Given the description of an element on the screen output the (x, y) to click on. 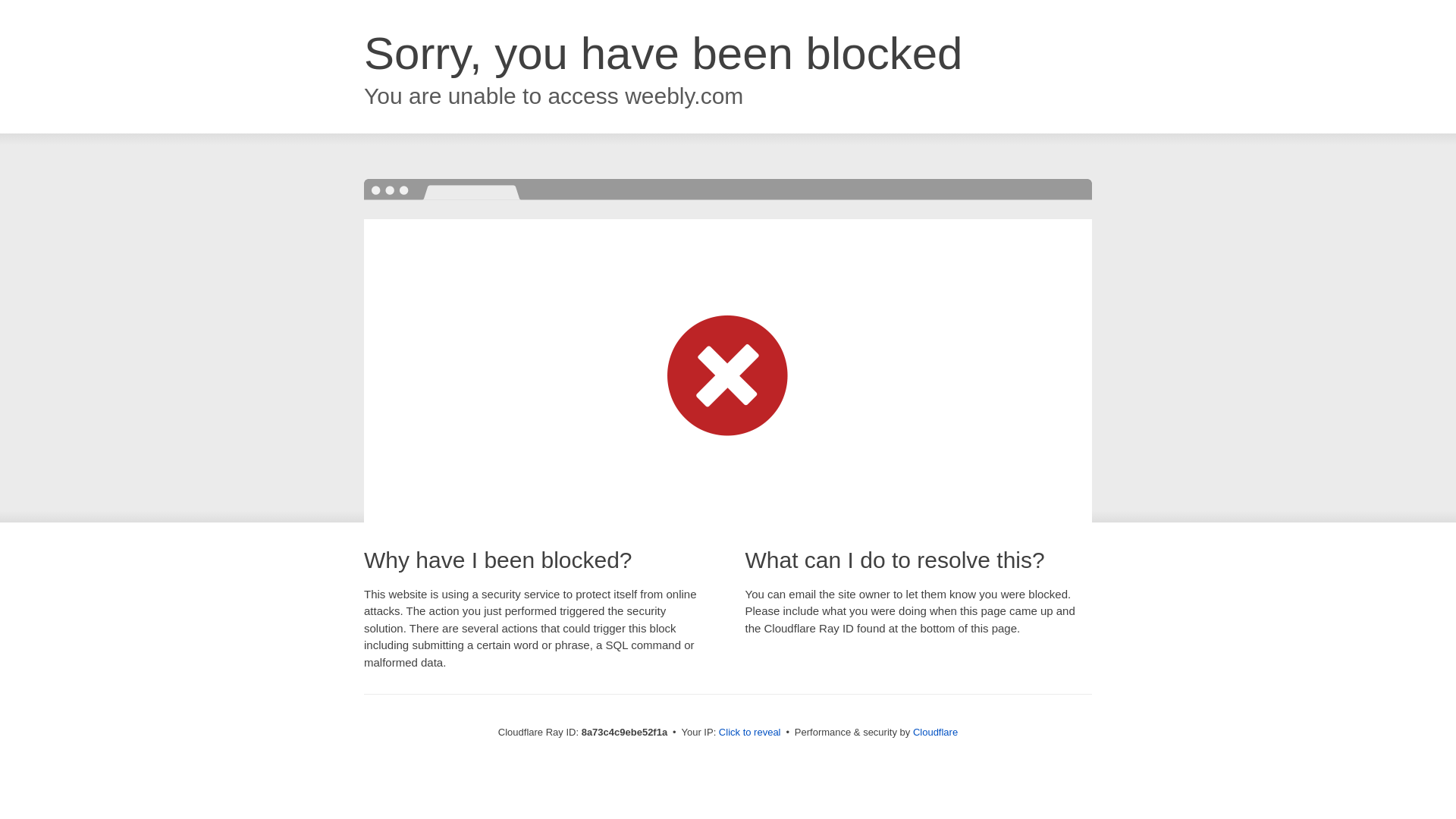
Cloudflare (935, 731)
Click to reveal (749, 732)
